Given the description of an element on the screen output the (x, y) to click on. 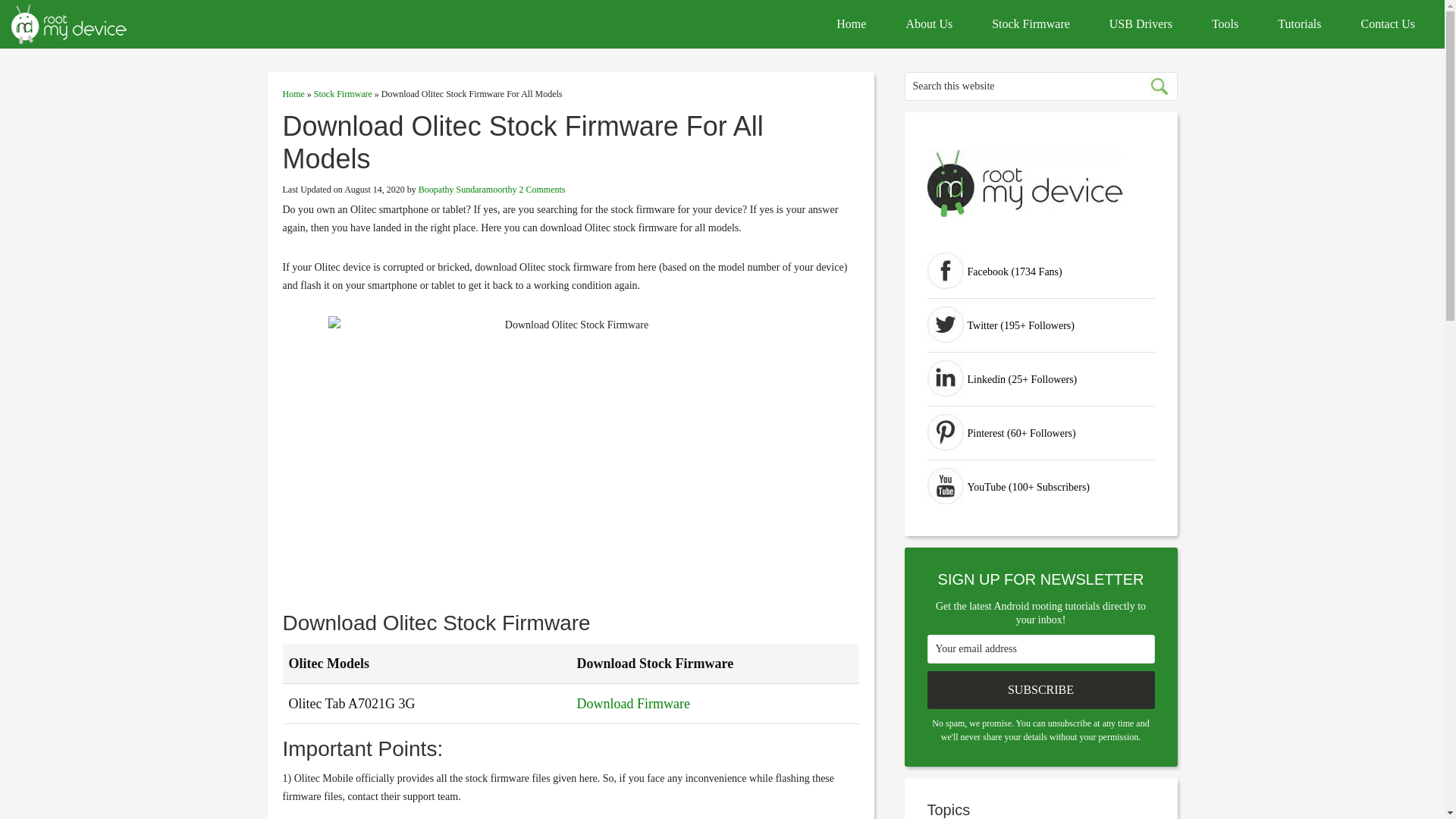
About Us (928, 24)
Search this website (1040, 86)
Tools (1224, 24)
Subscribe (1040, 689)
Search (1158, 86)
Search this website (1040, 86)
Stock Firmware (343, 93)
Contact Us (1387, 24)
Tutorials (1299, 24)
